Given the description of an element on the screen output the (x, y) to click on. 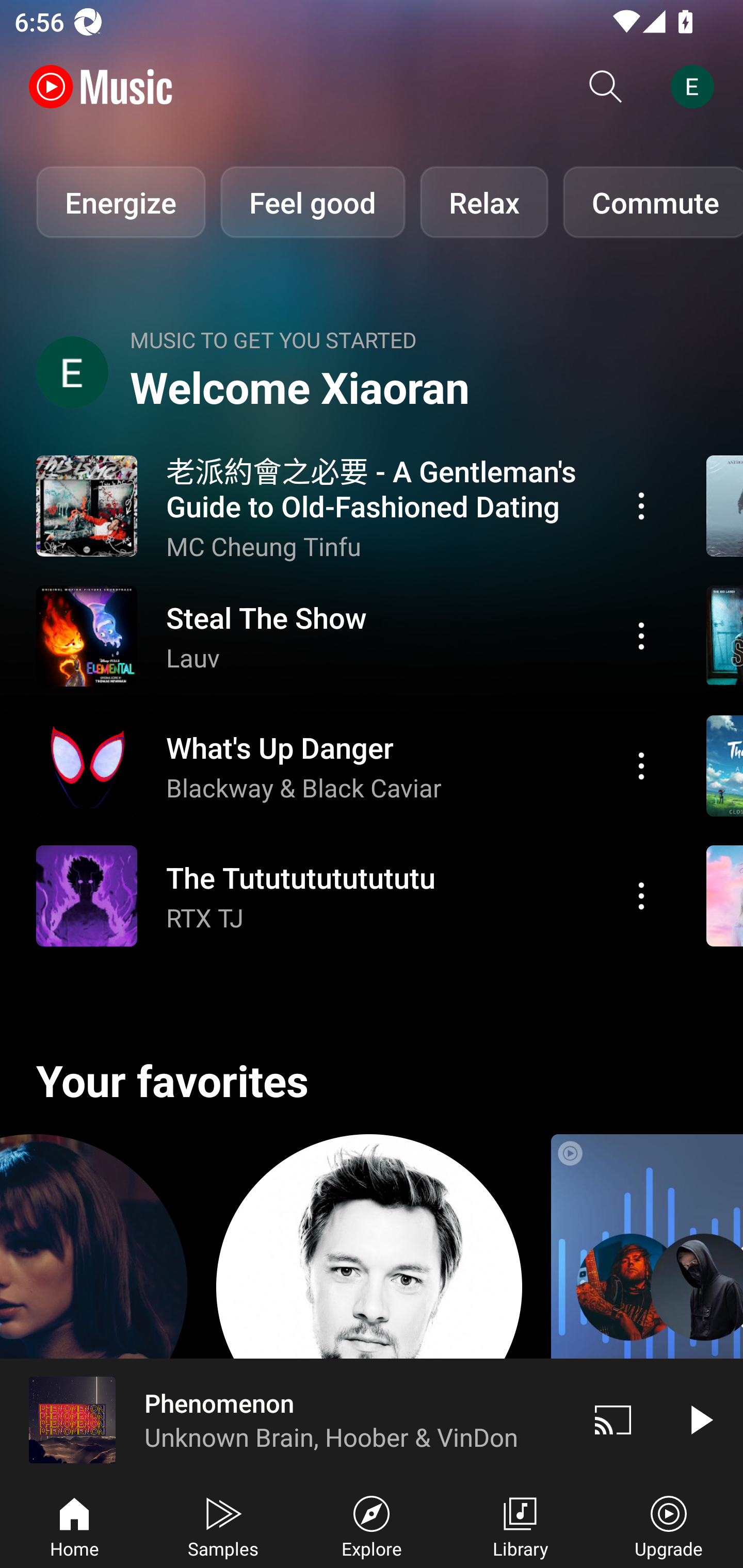
Search (605, 86)
Account (696, 86)
Action menu (349, 505)
Action menu (641, 505)
Action menu (349, 635)
Action menu (641, 635)
Action menu (349, 765)
Action menu (641, 765)
Action menu (349, 896)
Action menu (641, 896)
Phenomenon Unknown Brain, Hoober & VinDon (284, 1419)
Cast. Disconnected (612, 1419)
Play video (699, 1419)
Home (74, 1524)
Samples (222, 1524)
Explore (371, 1524)
Library (519, 1524)
Upgrade (668, 1524)
